Given the description of an element on the screen output the (x, y) to click on. 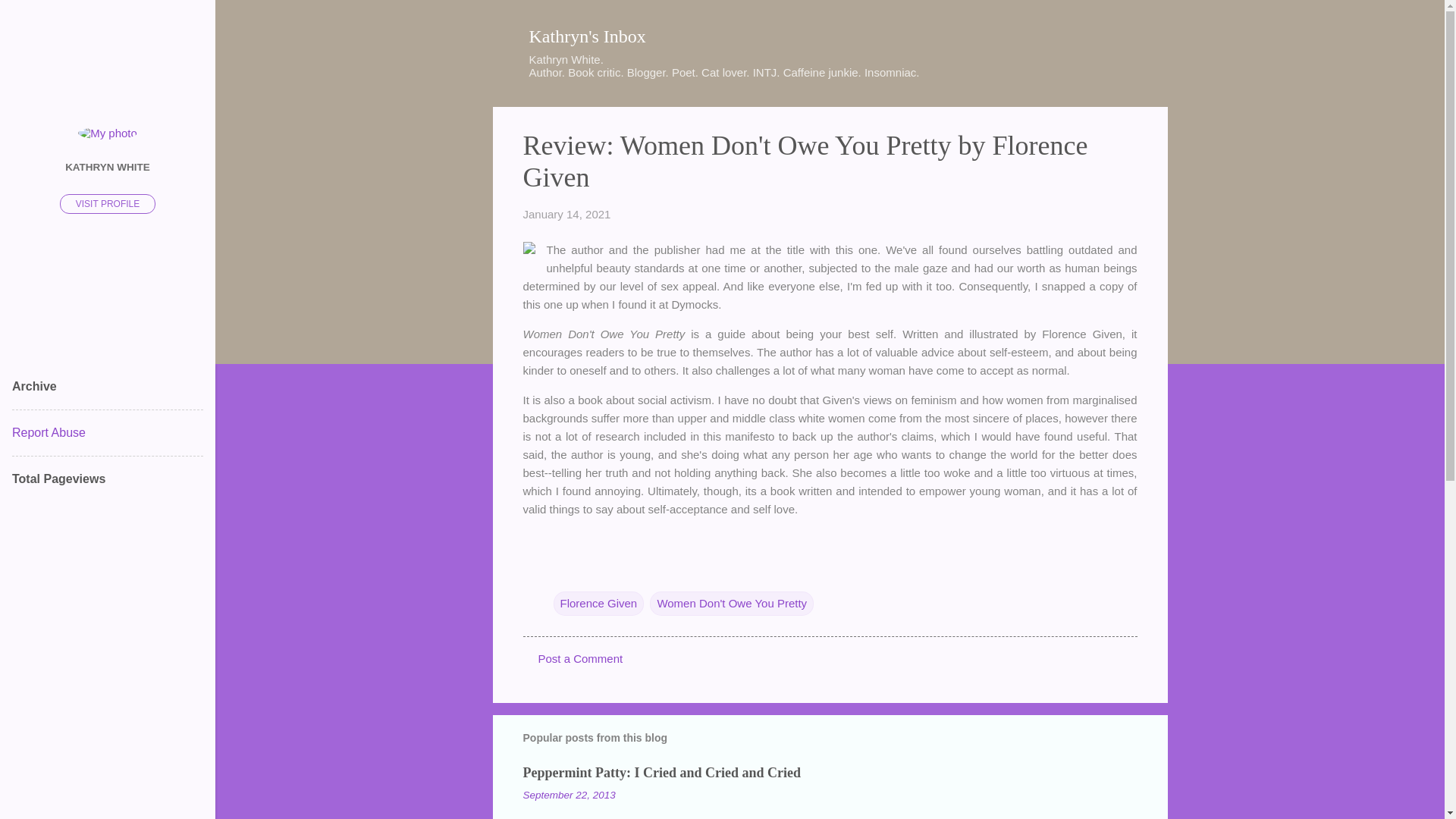
Kathryn's Inbox (587, 35)
permanent link (566, 214)
Email Post (562, 571)
KATHRYN WHITE (107, 166)
September 22, 2013 (568, 794)
Florence Given (599, 603)
Post a Comment (580, 658)
January 14, 2021 (566, 214)
Search (29, 18)
Peppermint Patty: I Cried and Cried and Cried (661, 772)
